Given the description of an element on the screen output the (x, y) to click on. 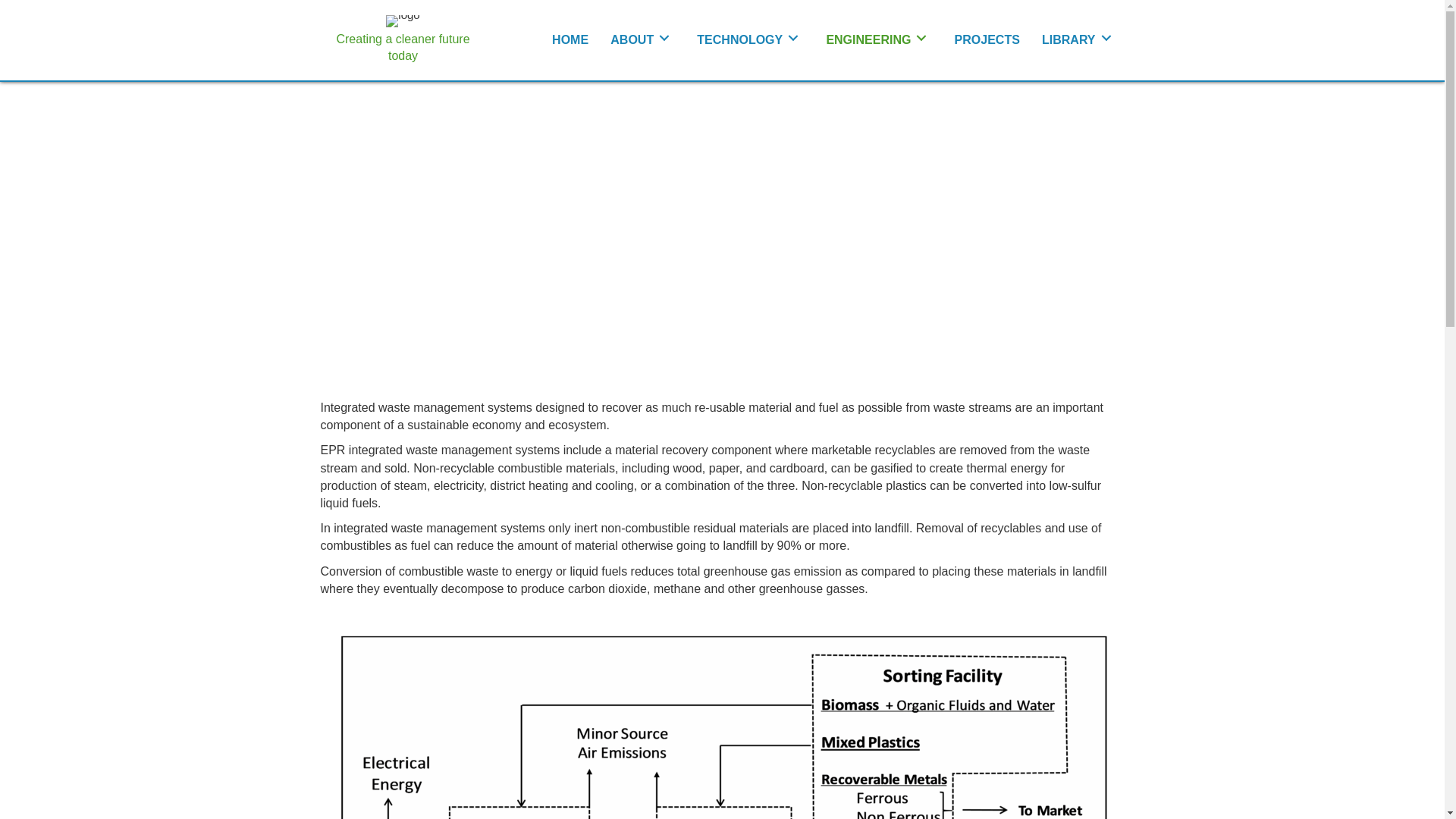
LIBRARY (1078, 37)
HOME (569, 37)
ENGINEERING (878, 37)
PROJECTS (987, 37)
Creating a cleaner future today (402, 47)
Creating a cleaner future today (402, 47)
TECHNOLOGY (749, 37)
ABOUT (642, 37)
